Given the description of an element on the screen output the (x, y) to click on. 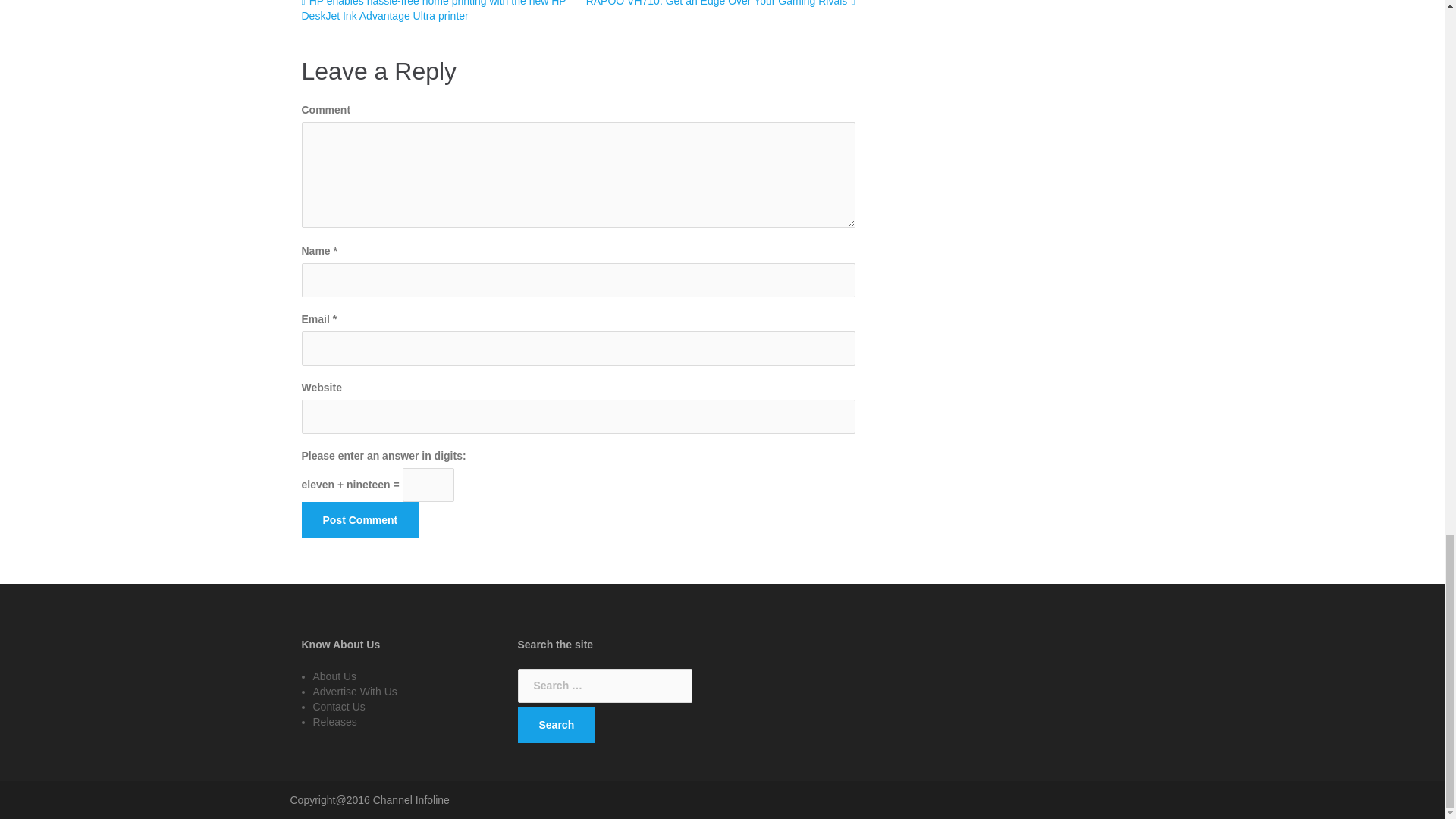
Post Comment (360, 520)
RAPOO VH710: Get an Edge Over Your Gaming Rivals (721, 3)
Search (555, 724)
Search (555, 724)
Post Comment (360, 520)
